Given the description of an element on the screen output the (x, y) to click on. 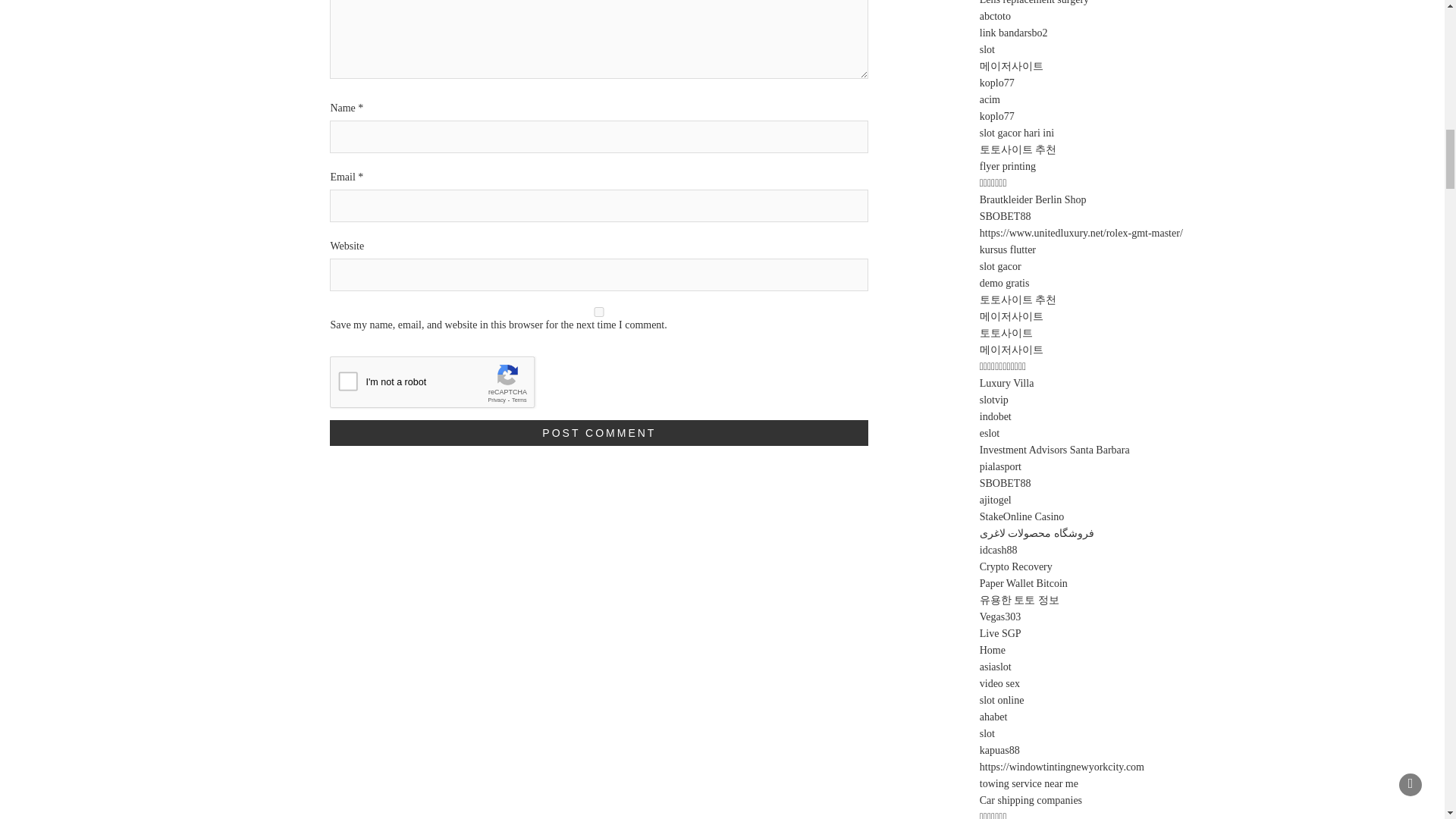
yes (598, 311)
Post Comment (598, 432)
reCAPTCHA (445, 385)
Post Comment (598, 432)
